Given the description of an element on the screen output the (x, y) to click on. 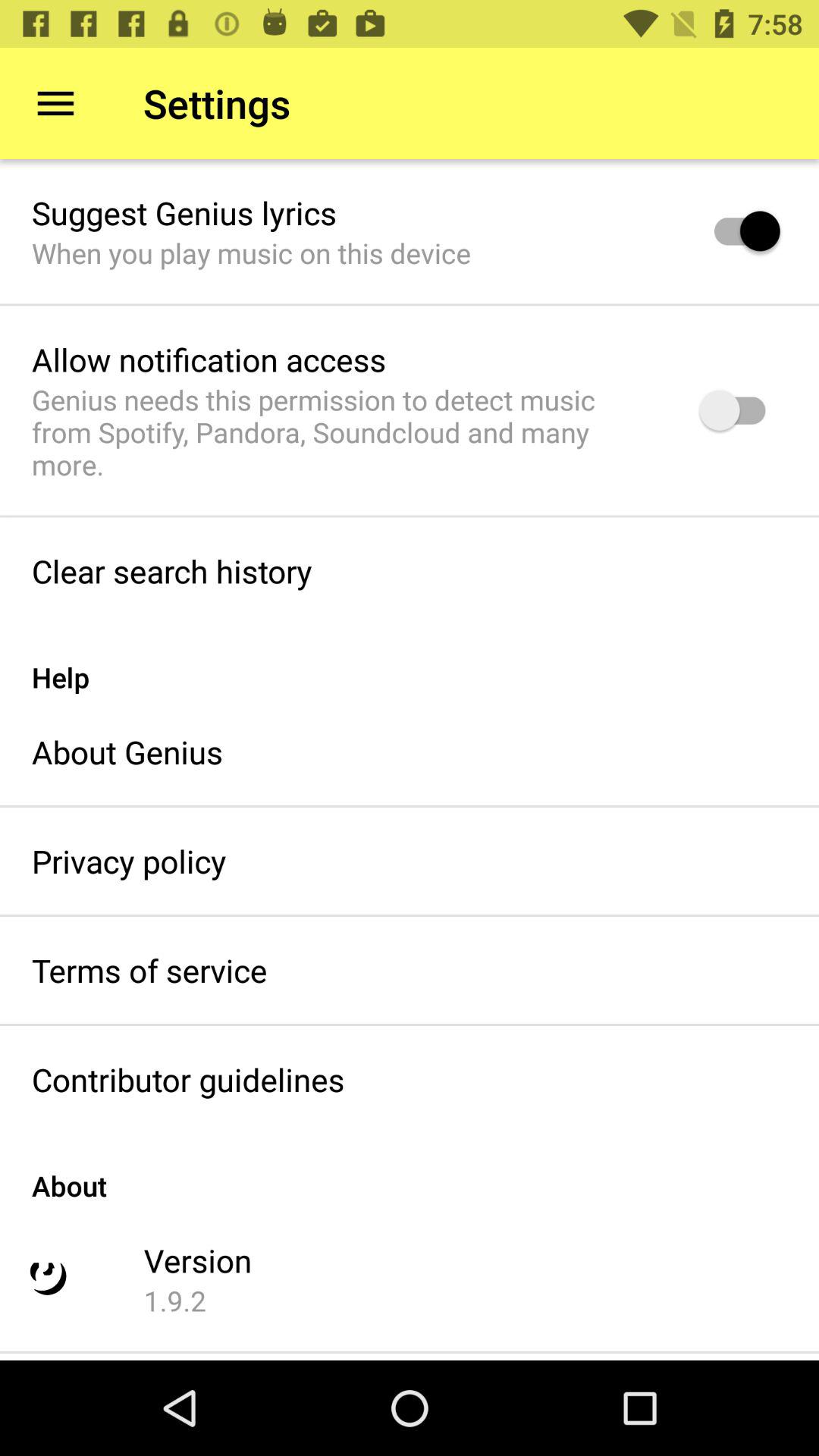
tap the icon above the clear search history item (345, 432)
